Given the description of an element on the screen output the (x, y) to click on. 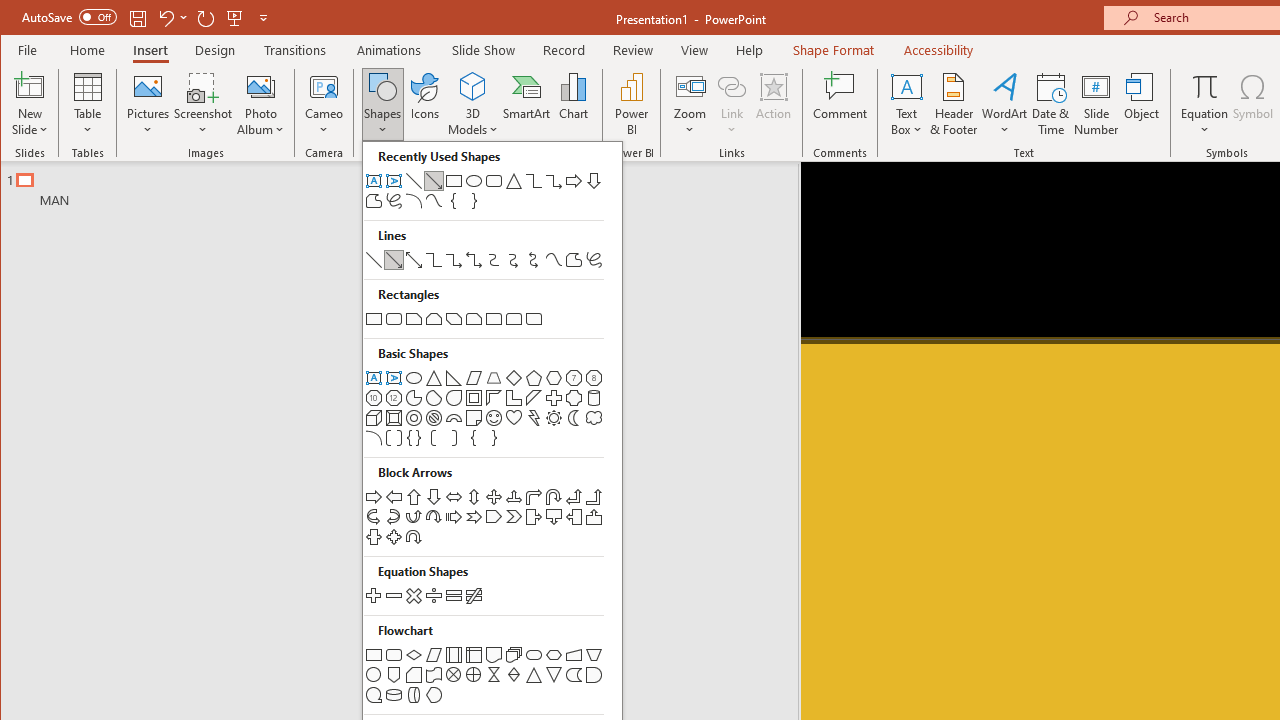
Comment (840, 104)
Draw Horizontal Text Box (906, 86)
Symbol... (1253, 104)
Table (87, 104)
3D Models (472, 104)
3D Models (472, 86)
